Given the description of an element on the screen output the (x, y) to click on. 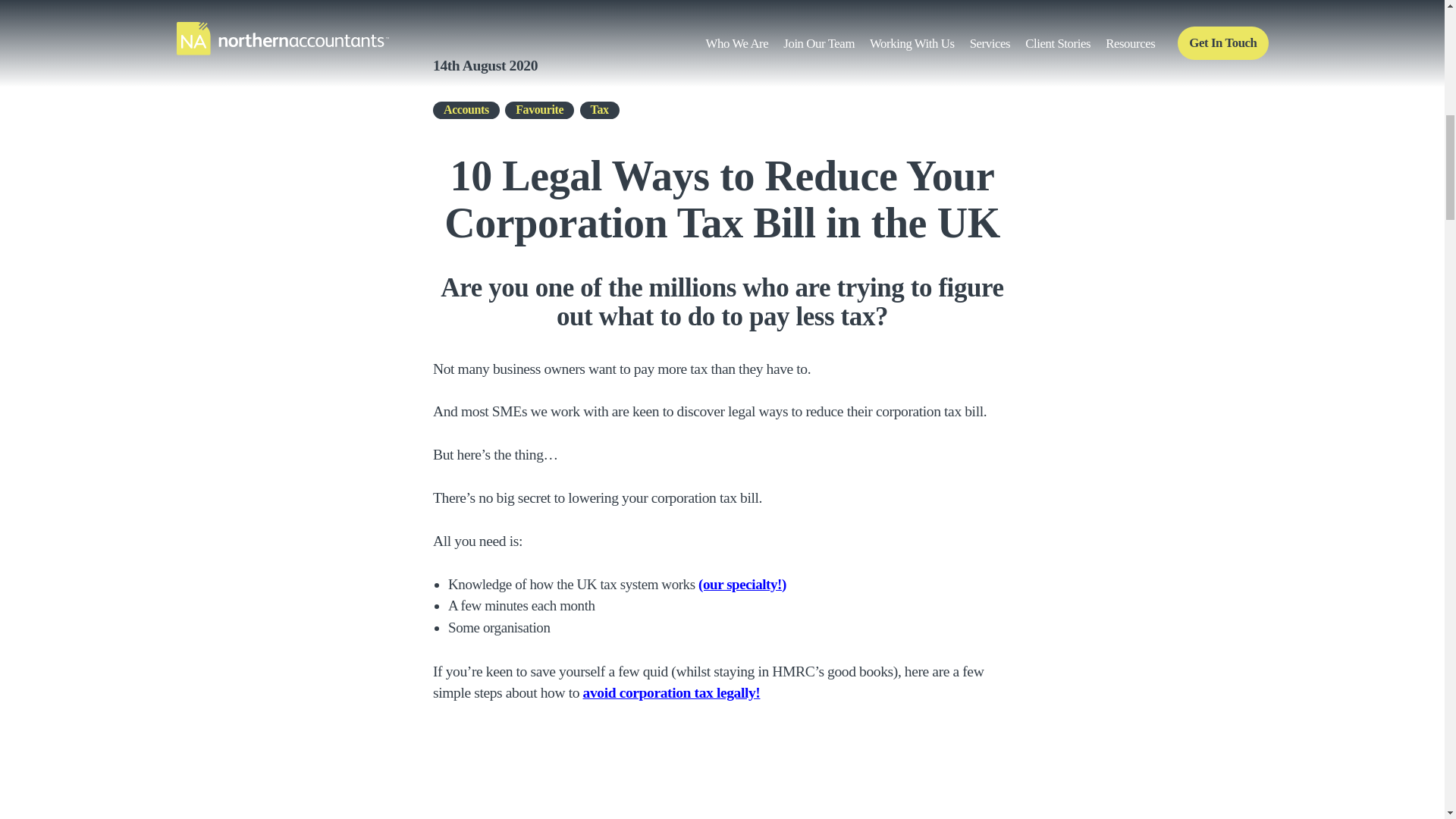
3 steps on how to reduce your corporation tax bill (721, 771)
avoid corporation tax legally! (671, 692)
Accounts (466, 109)
Favourite (539, 109)
Tax (599, 109)
